Given the description of an element on the screen output the (x, y) to click on. 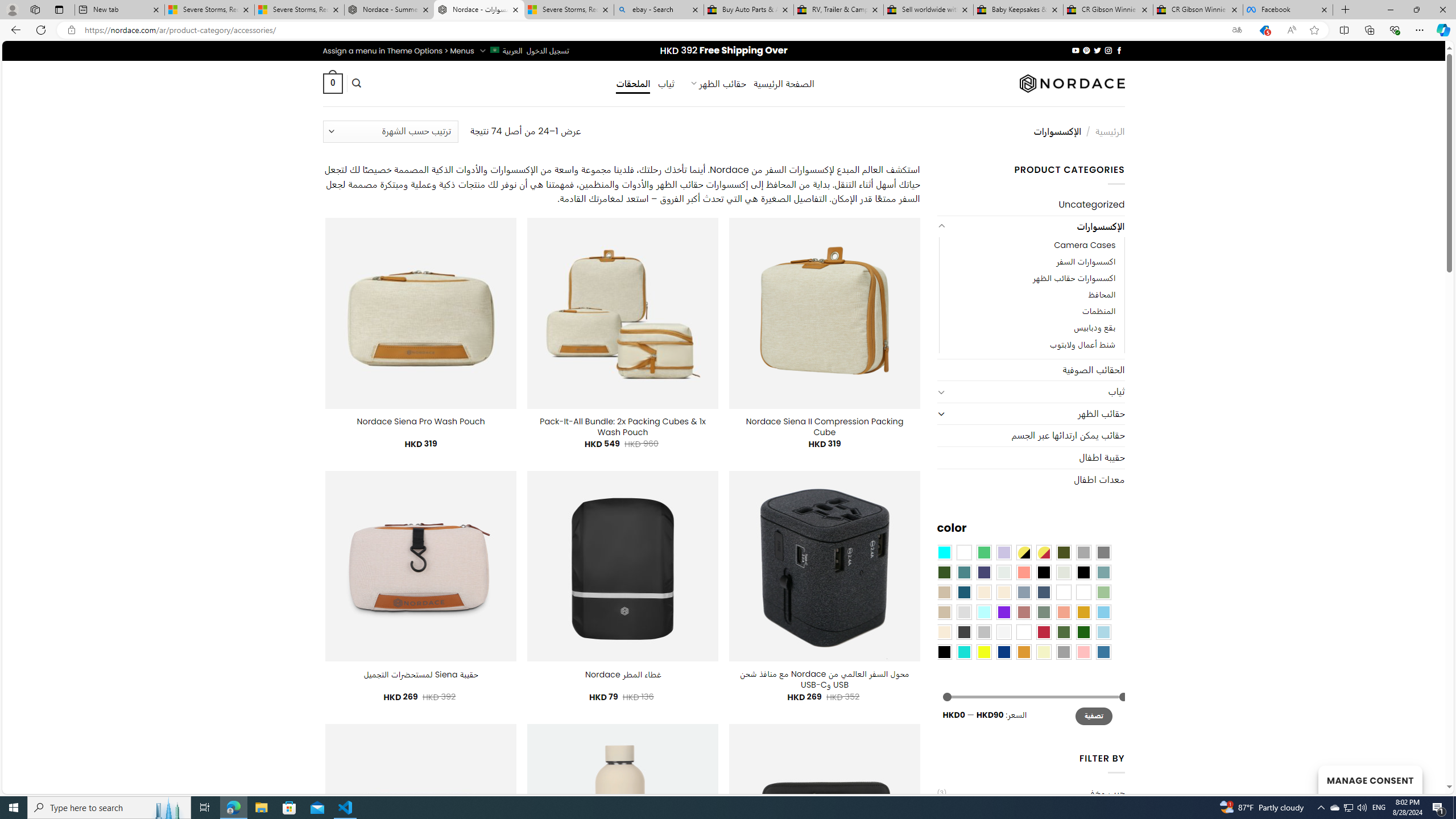
Sage (1043, 611)
Cream (1003, 591)
Follow on Pinterest (1086, 50)
ebay - Search (658, 9)
Uncategorized (1030, 204)
Facebook (1287, 9)
Workspaces (34, 9)
Nordace Siena II Compression Packing Cube (824, 427)
MANAGE CONSENT (1369, 779)
Back (13, 29)
Close (1442, 9)
